Given the description of an element on the screen output the (x, y) to click on. 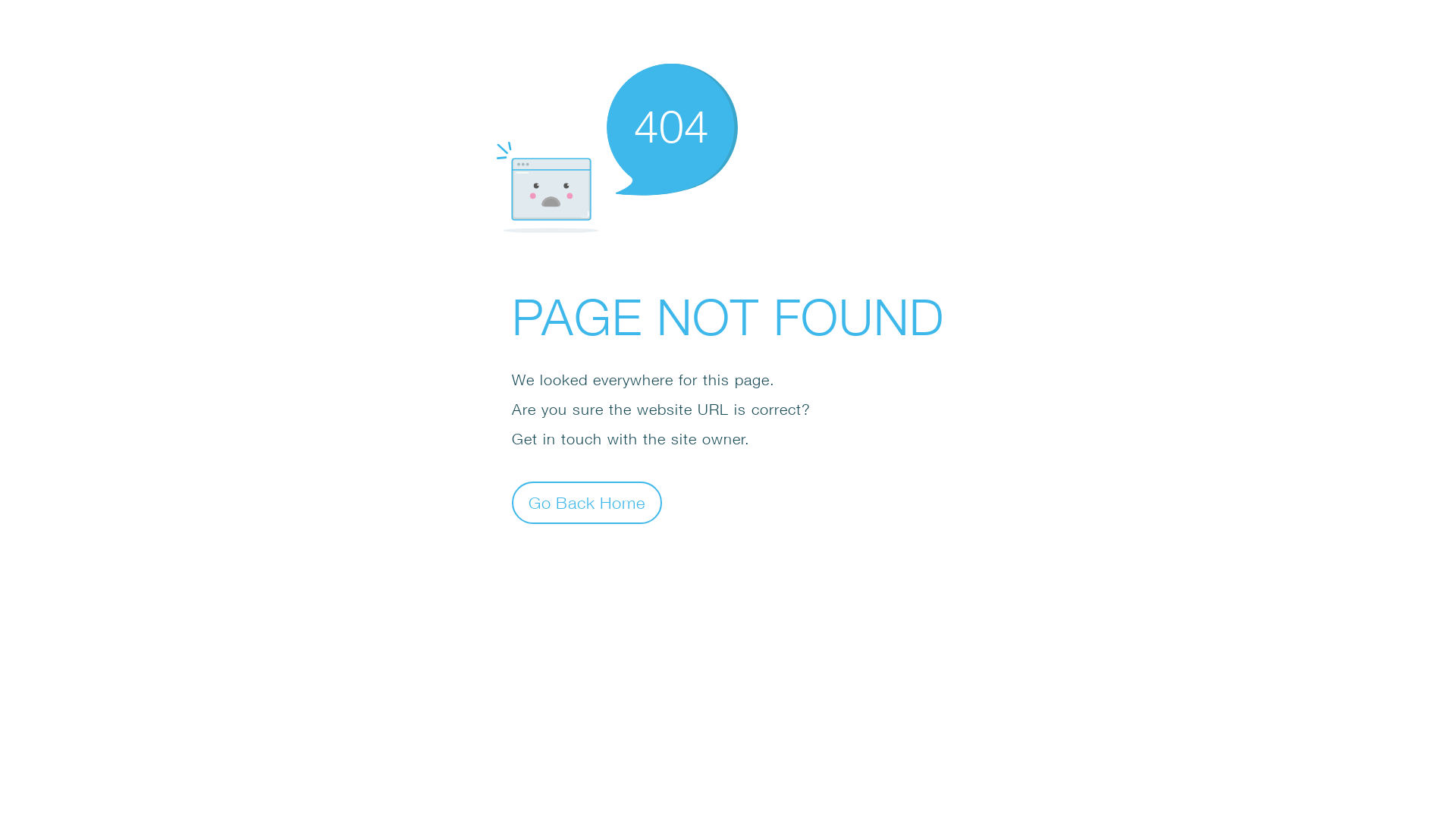
Go Back Home Element type: text (586, 502)
